Given the description of an element on the screen output the (x, y) to click on. 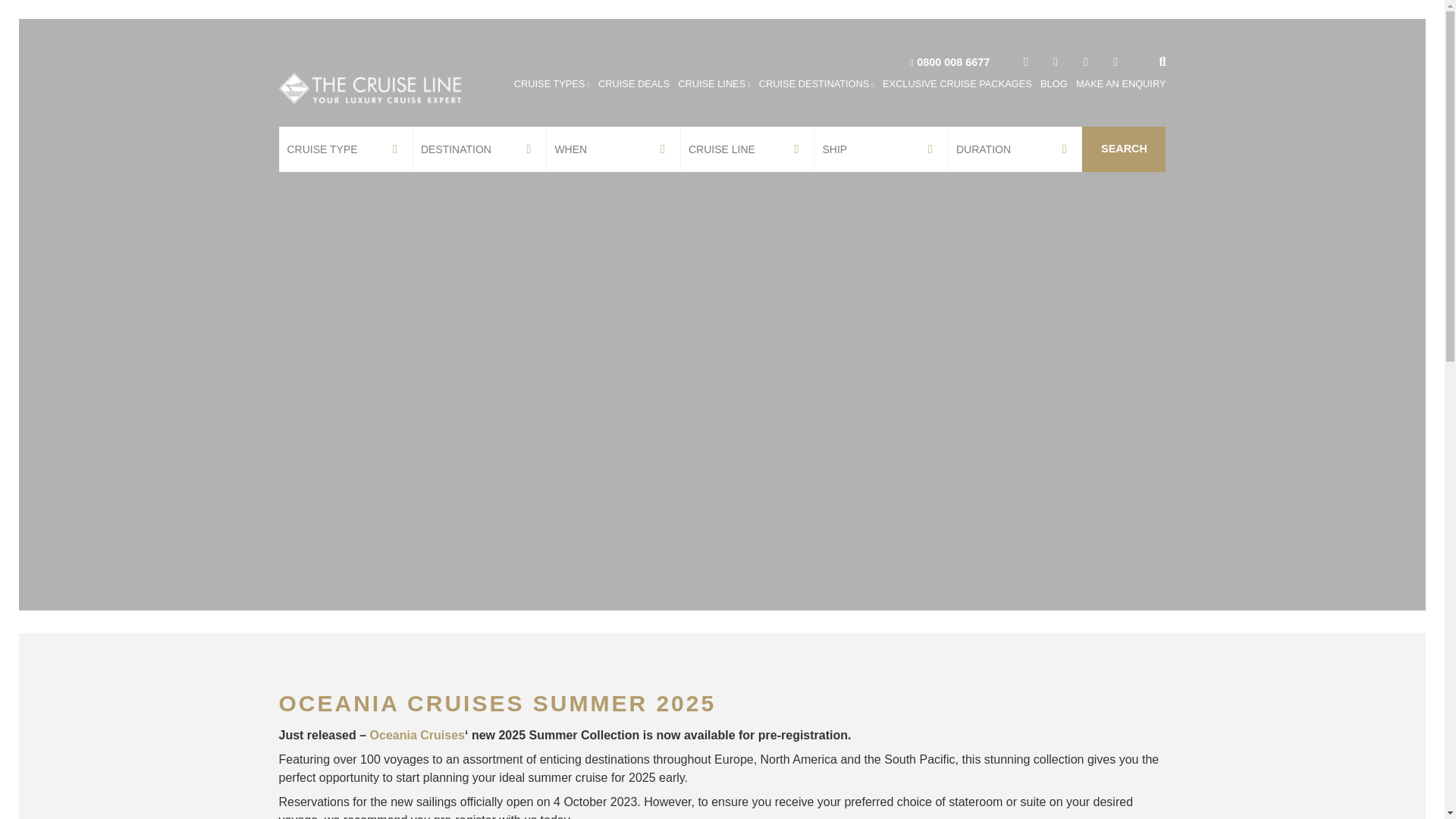
0800 008 6677 (953, 61)
The Cruise Line (370, 88)
CRUISE DEALS (633, 83)
CRUISE TYPES (551, 83)
CRUISE LINES (713, 83)
